Given the description of an element on the screen output the (x, y) to click on. 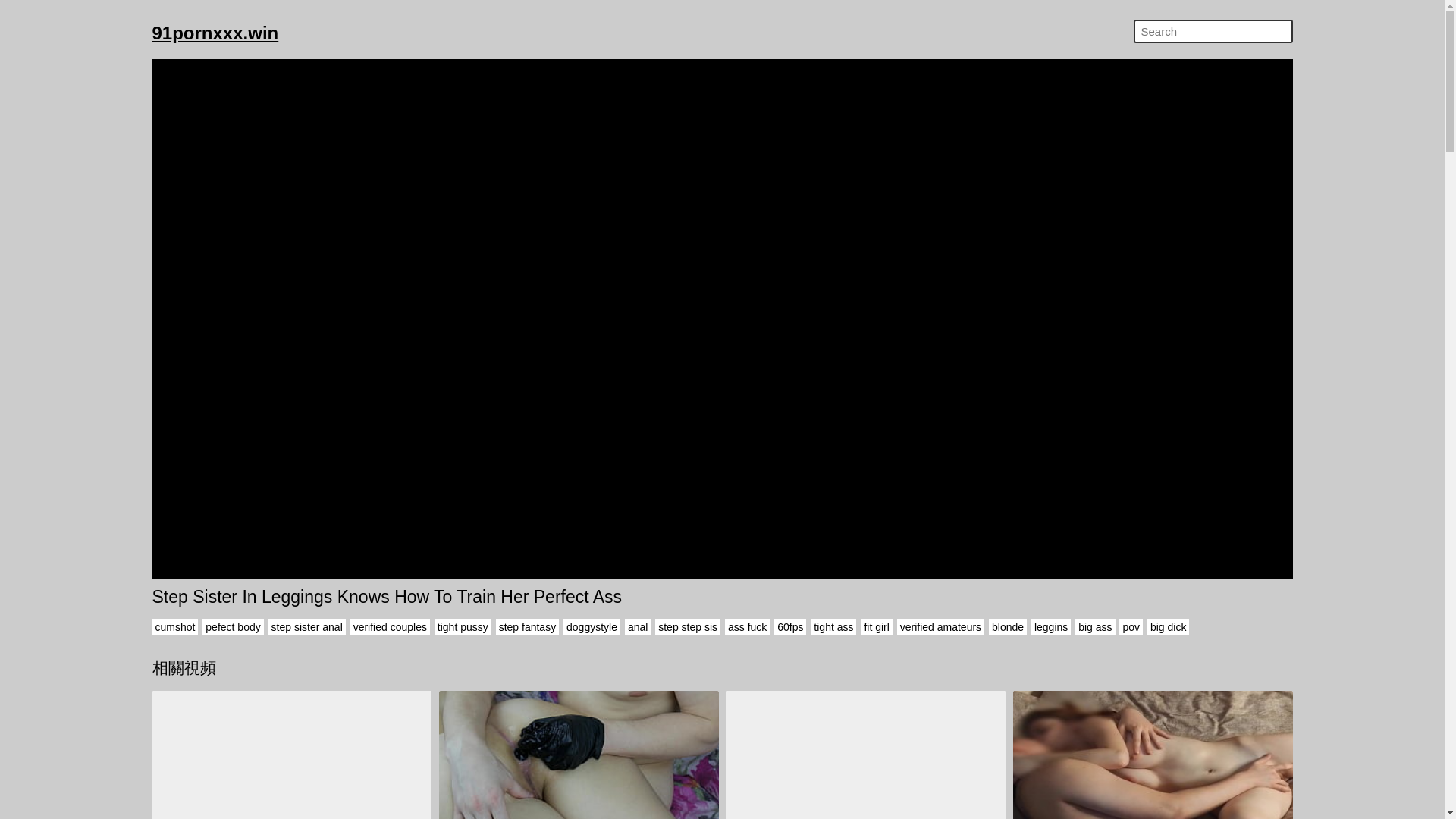
Perfect Mother In Law Wants To Fuck Sweet Her Step-son (290, 755)
91pornxxx.win (214, 33)
60fps (790, 627)
verified amateurs (940, 627)
pov (1130, 627)
step sister anal (306, 627)
tight ass (833, 627)
step step sis (687, 627)
fit girl (875, 627)
big dick (1168, 627)
Perfect Mother In Law Wants To Fuck Sweet Her Step-son (290, 755)
